Given the description of an element on the screen output the (x, y) to click on. 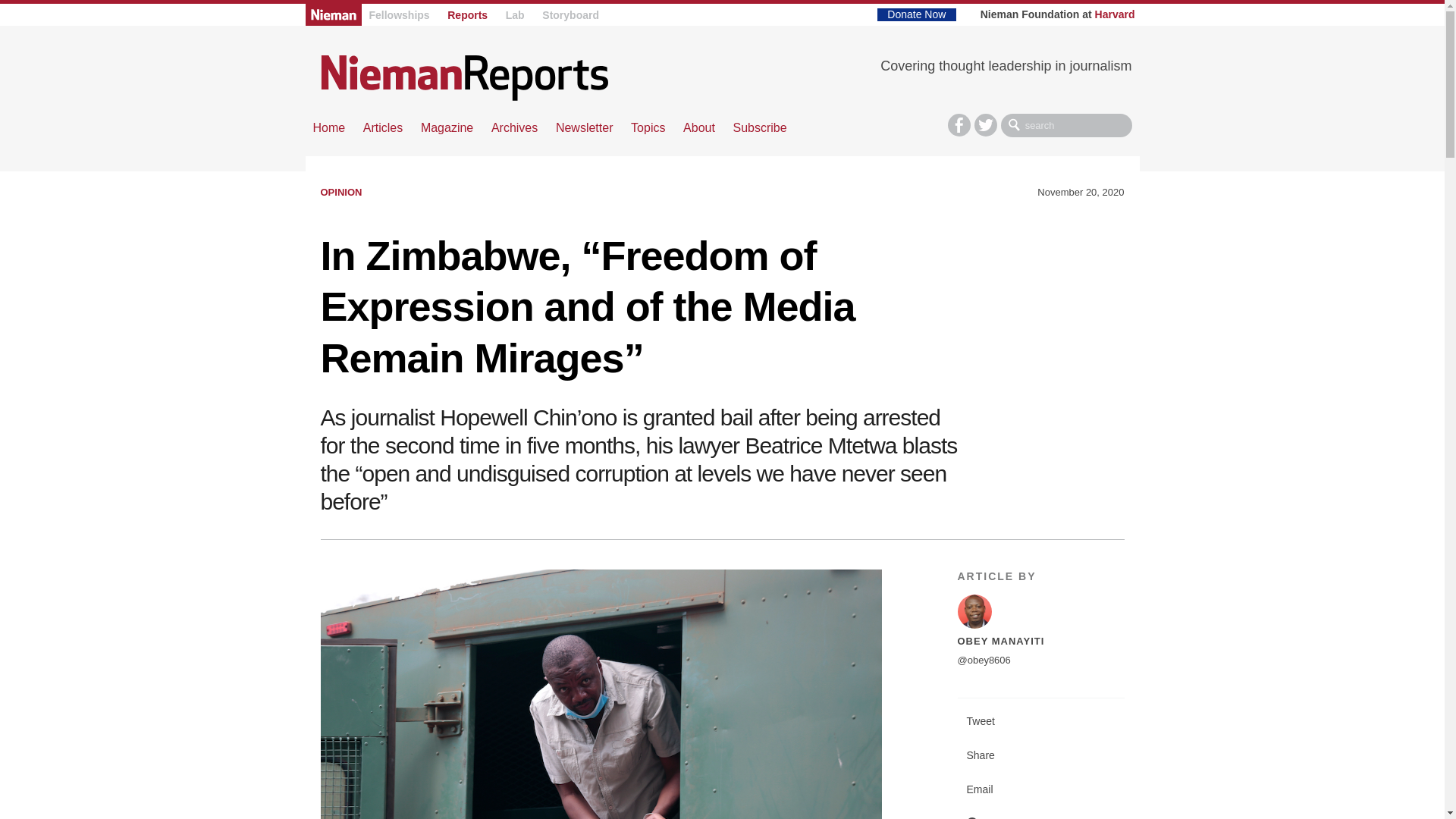
Donate Now (915, 14)
Harvard (1114, 14)
Comment (1040, 812)
Newsletter (584, 127)
OBEY MANAYITI (999, 641)
Articles (382, 127)
Storyboard (569, 15)
T (985, 124)
Tweet (1040, 721)
Home (464, 76)
OPINION (340, 192)
Nieman Foundation Home (332, 14)
Fellowships (398, 15)
Magazine (446, 127)
F (959, 124)
